Given the description of an element on the screen output the (x, y) to click on. 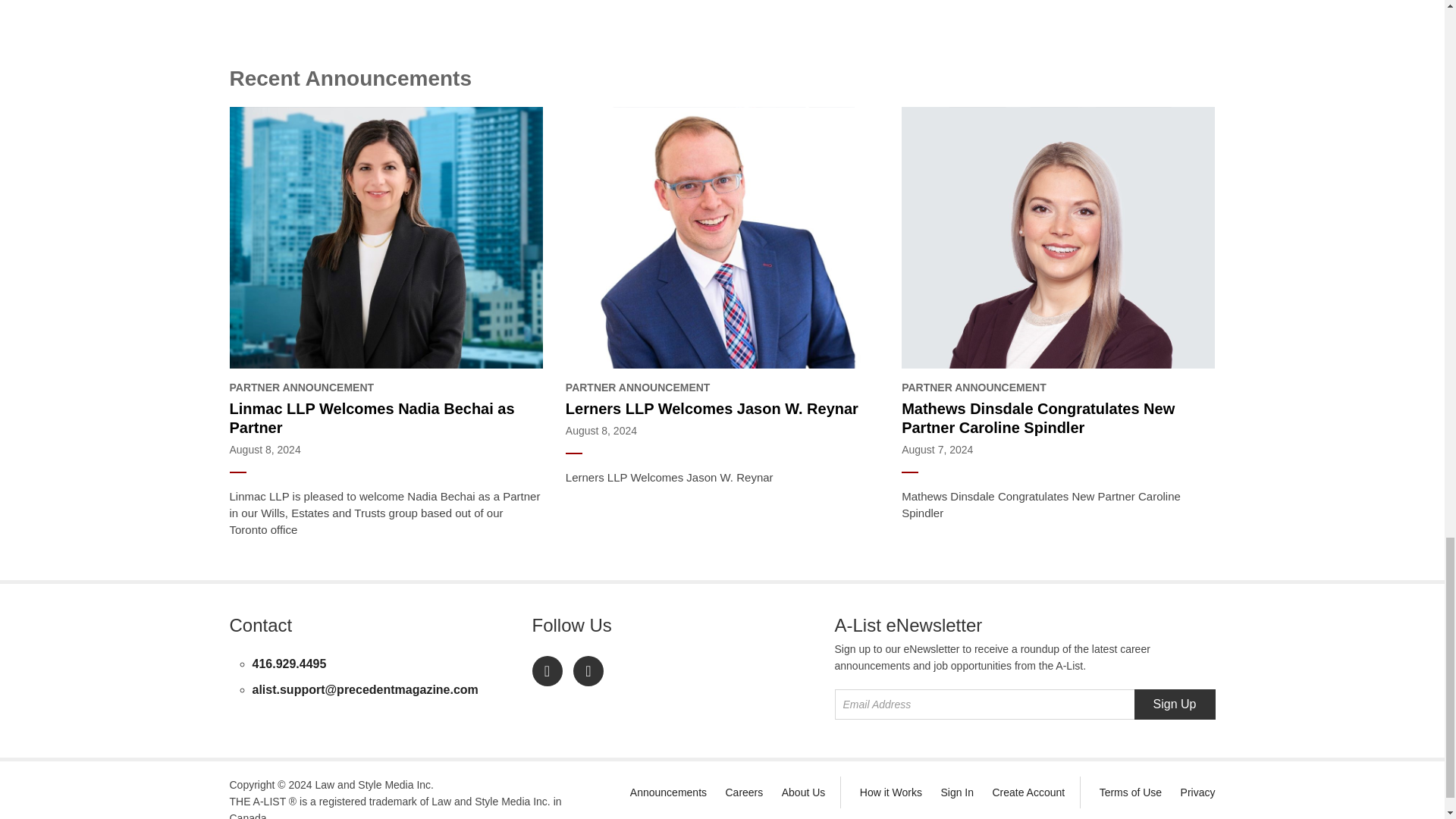
PARTNER ANNOUNCEMENT (722, 387)
Linmac LLP Welcomes Nadia Bechai as Partner (384, 418)
PARTNER ANNOUNCEMENT (384, 387)
PARTNER ANNOUNCEMENT (1057, 387)
Mathews Dinsdale Congratulates New Partner Caroline Spindler (1057, 418)
A-List on Twitter (588, 671)
416.929.4495 (288, 663)
Lerners LLP Welcomes Jason W. Reynar (722, 408)
A-List on LinkedIn (547, 671)
Sign Up (1174, 704)
